Given the description of an element on the screen output the (x, y) to click on. 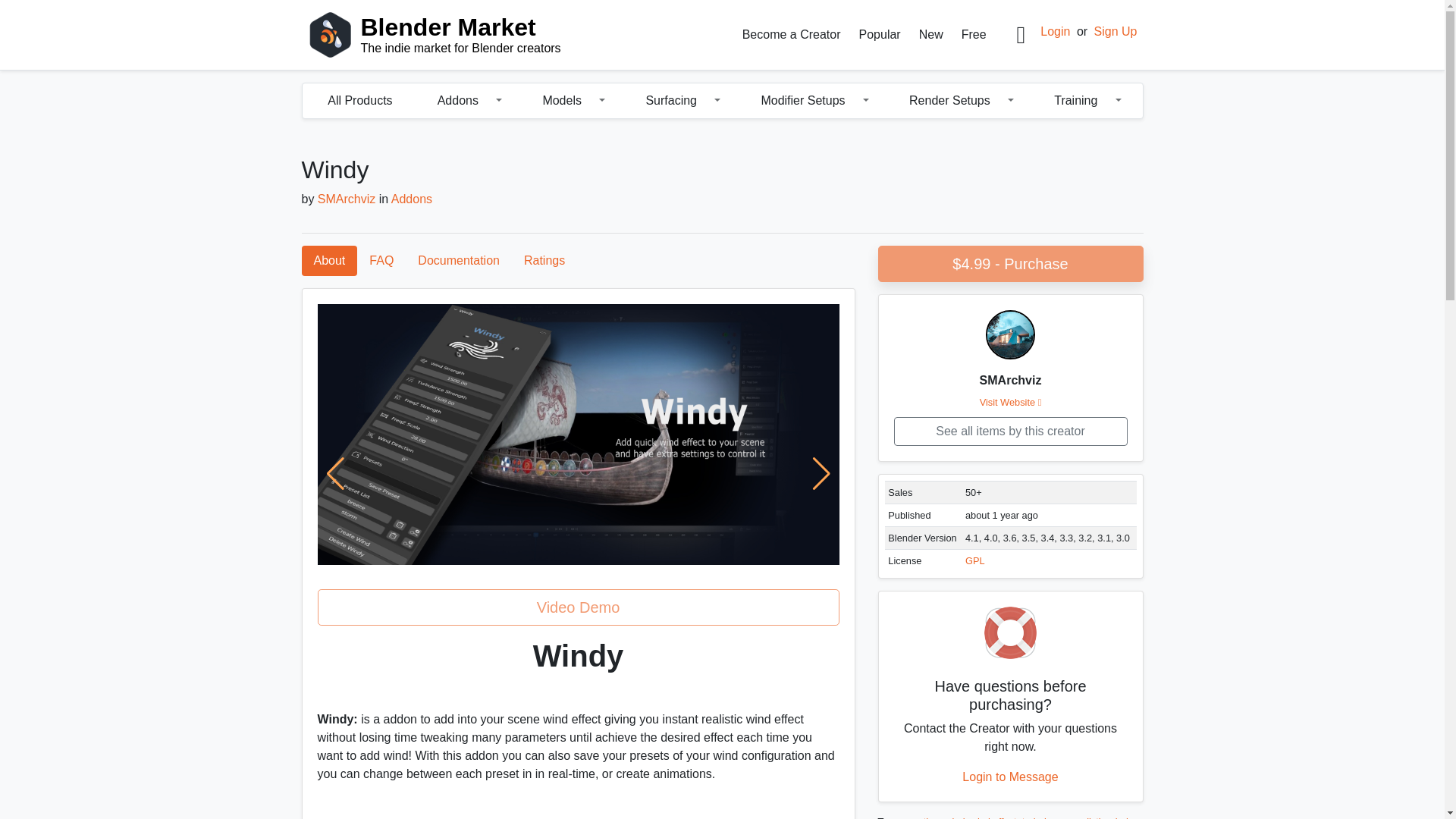
All Products (359, 100)
New (930, 34)
Sign Up (1115, 31)
Login (1055, 31)
Toggle Dropdown - Models (605, 100)
Addons (452, 100)
Free (973, 34)
Toggle Dropdown - Addons (501, 100)
Become a Creator (791, 34)
Popular (880, 34)
Models (443, 34)
